Given the description of an element on the screen output the (x, y) to click on. 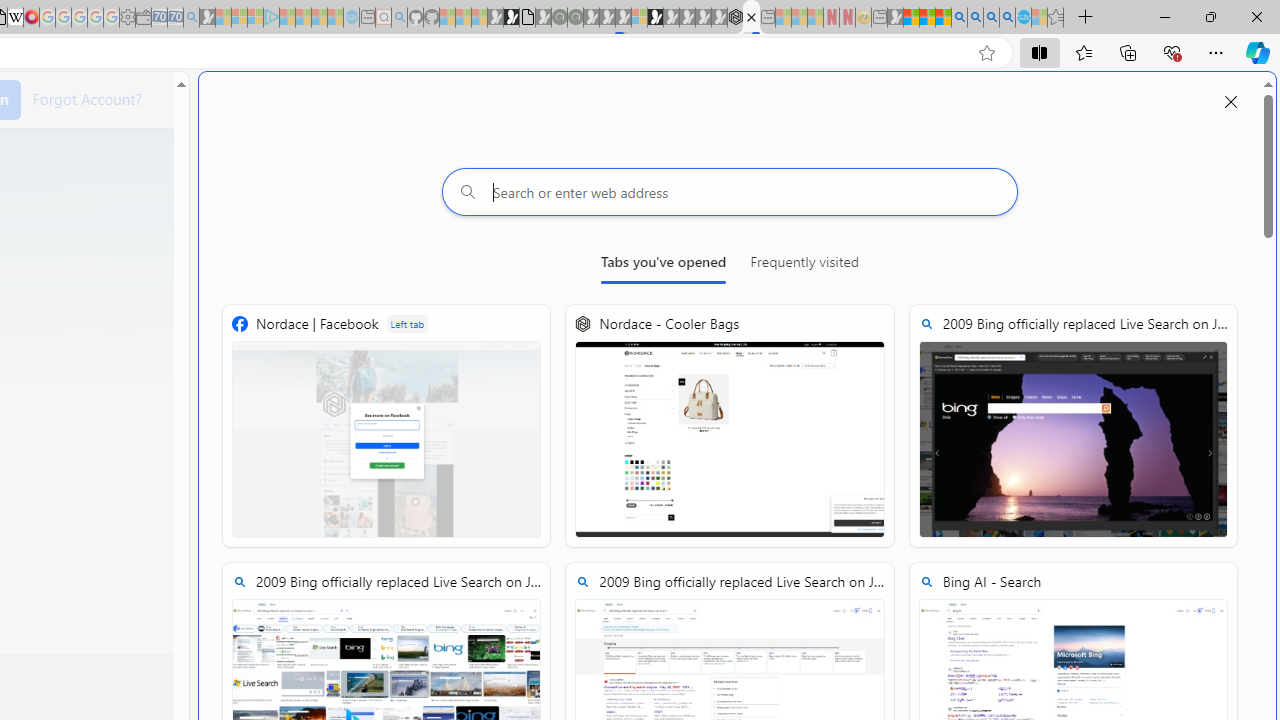
Bing AI - Search (959, 17)
Search or enter web address (729, 191)
Play Zoo Boom in your browser | Games from Microsoft Start (511, 17)
Cheap Car Rentals - Save70.com - Sleeping (175, 17)
Nordace - Cooler Bags (729, 426)
